Given the description of an element on the screen output the (x, y) to click on. 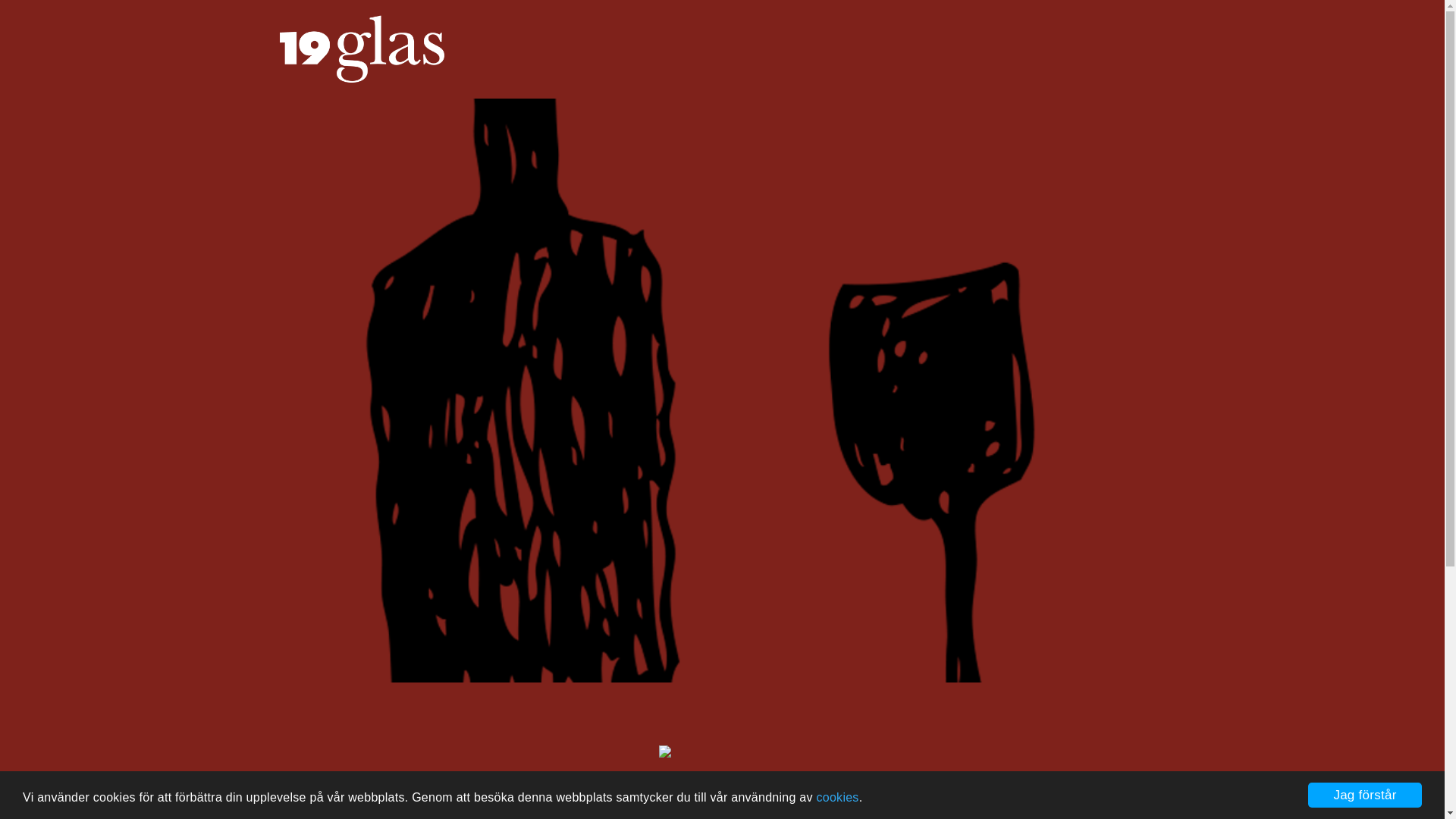
cookies Element type: text (837, 796)
